Given the description of an element on the screen output the (x, y) to click on. 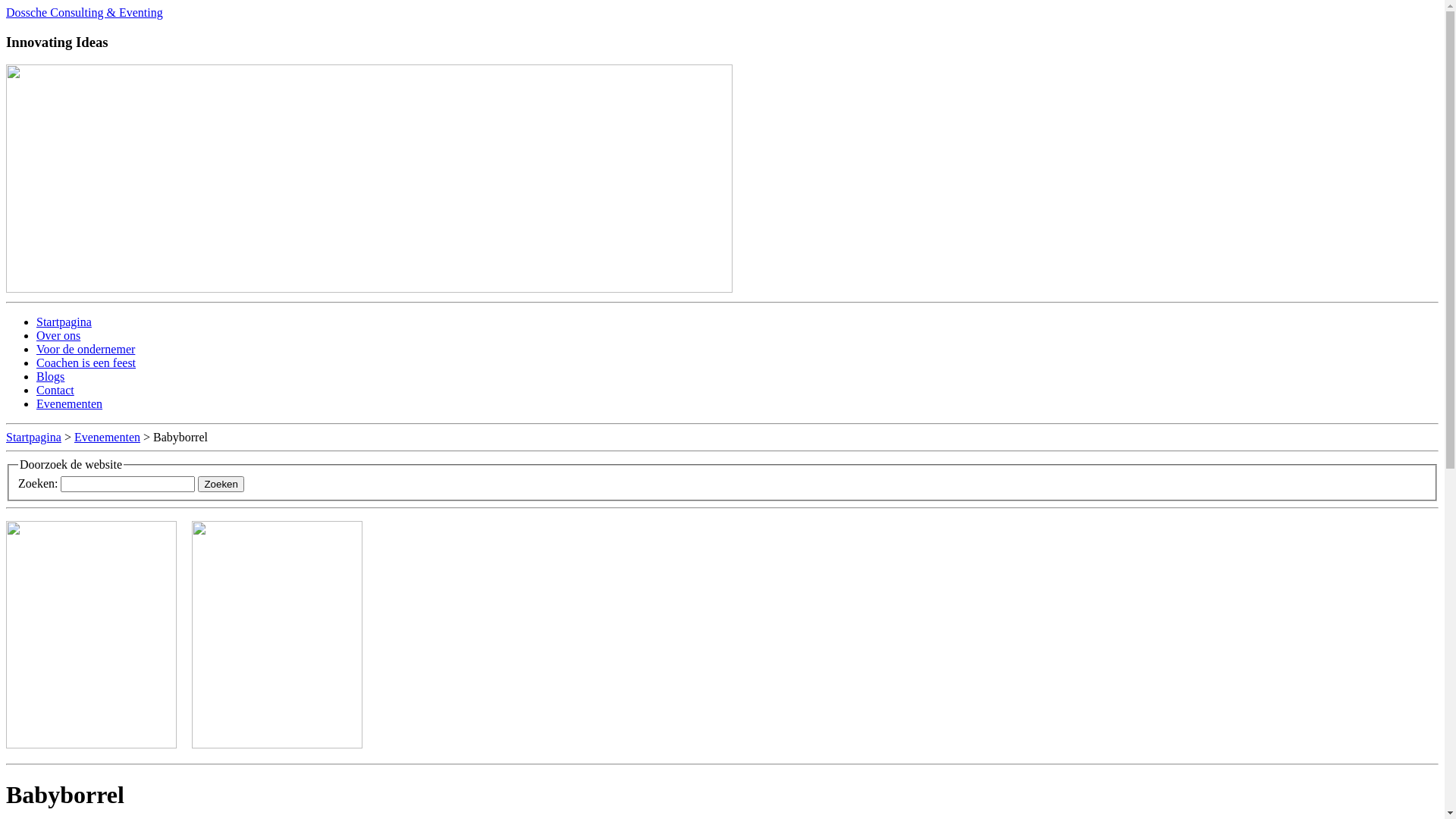
Evenementen Element type: text (69, 403)
Coachen is een feest Element type: text (85, 362)
Contact Element type: text (55, 389)
Evenementen Element type: text (107, 436)
Zoeken Element type: text (220, 484)
Startpagina Element type: text (33, 436)
Startpagina Element type: text (63, 321)
Dossche Consulting & Eventing Element type: text (84, 12)
Voor de ondernemer Element type: text (85, 348)
Over ons Element type: text (58, 335)
Blogs Element type: text (50, 376)
